Given the description of an element on the screen output the (x, y) to click on. 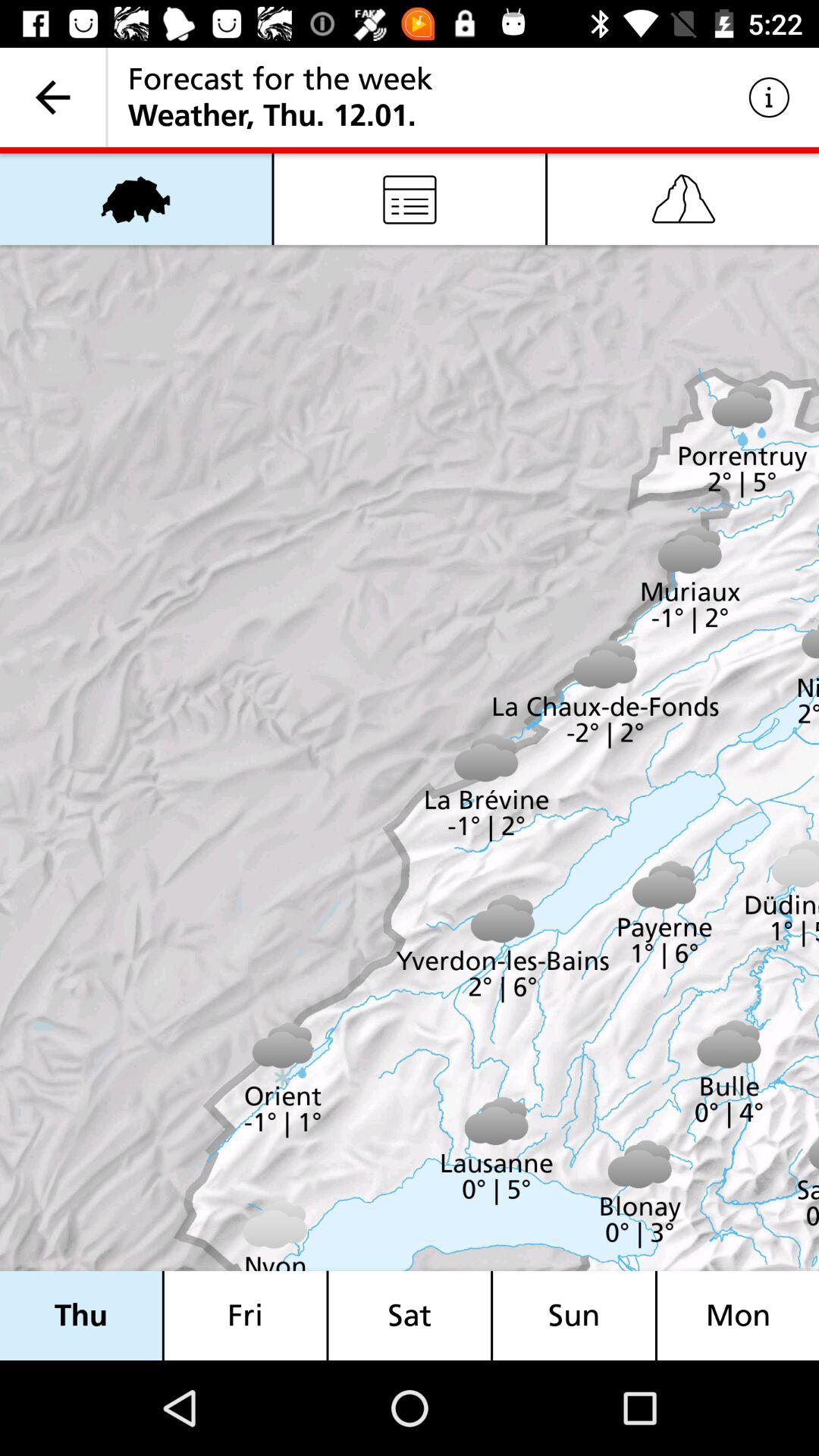
turn off the icon above the sun item (683, 199)
